Given the description of an element on the screen output the (x, y) to click on. 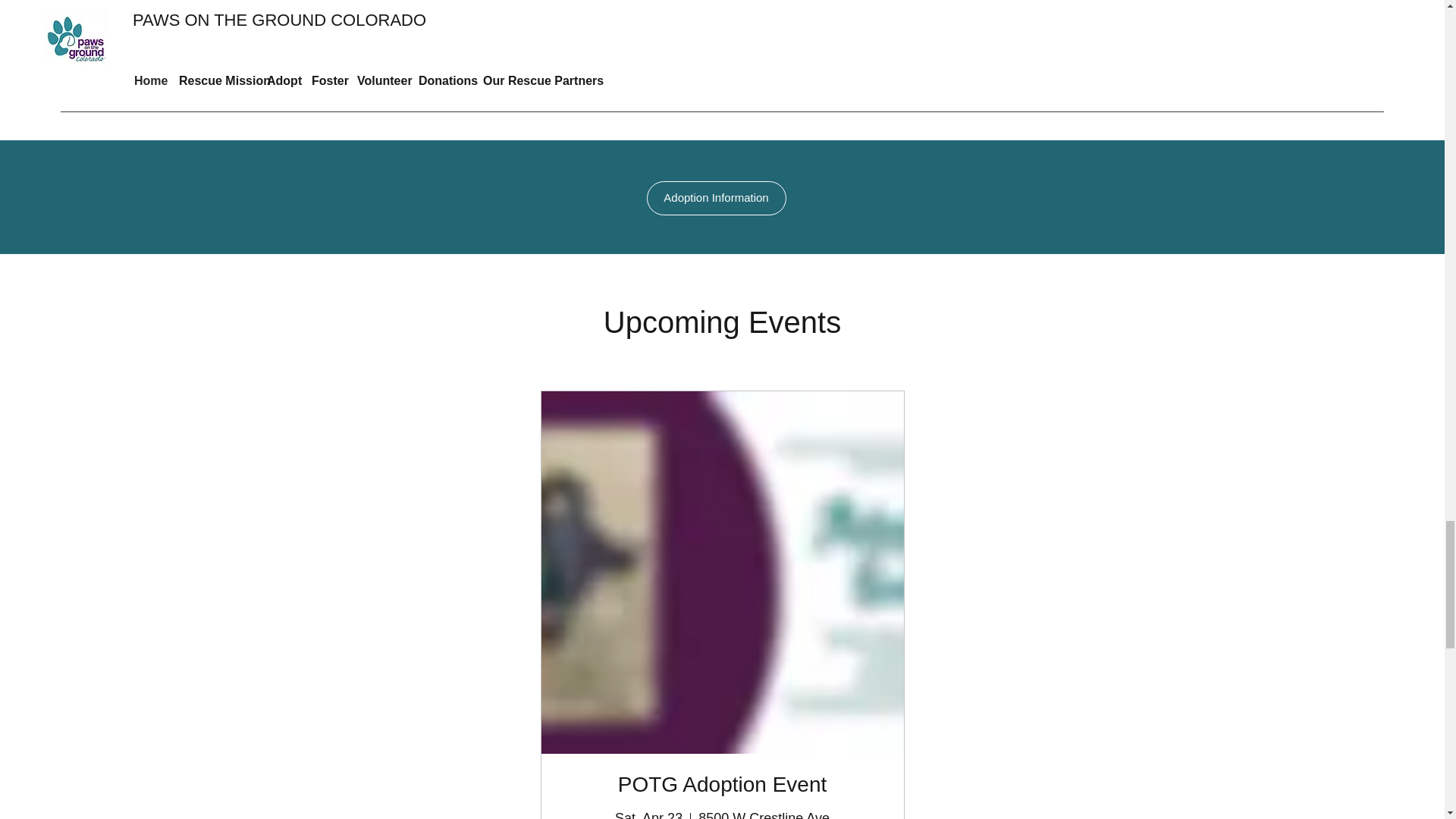
POTG Adoption Event (722, 784)
Adoption Information (716, 197)
